Given the description of an element on the screen output the (x, y) to click on. 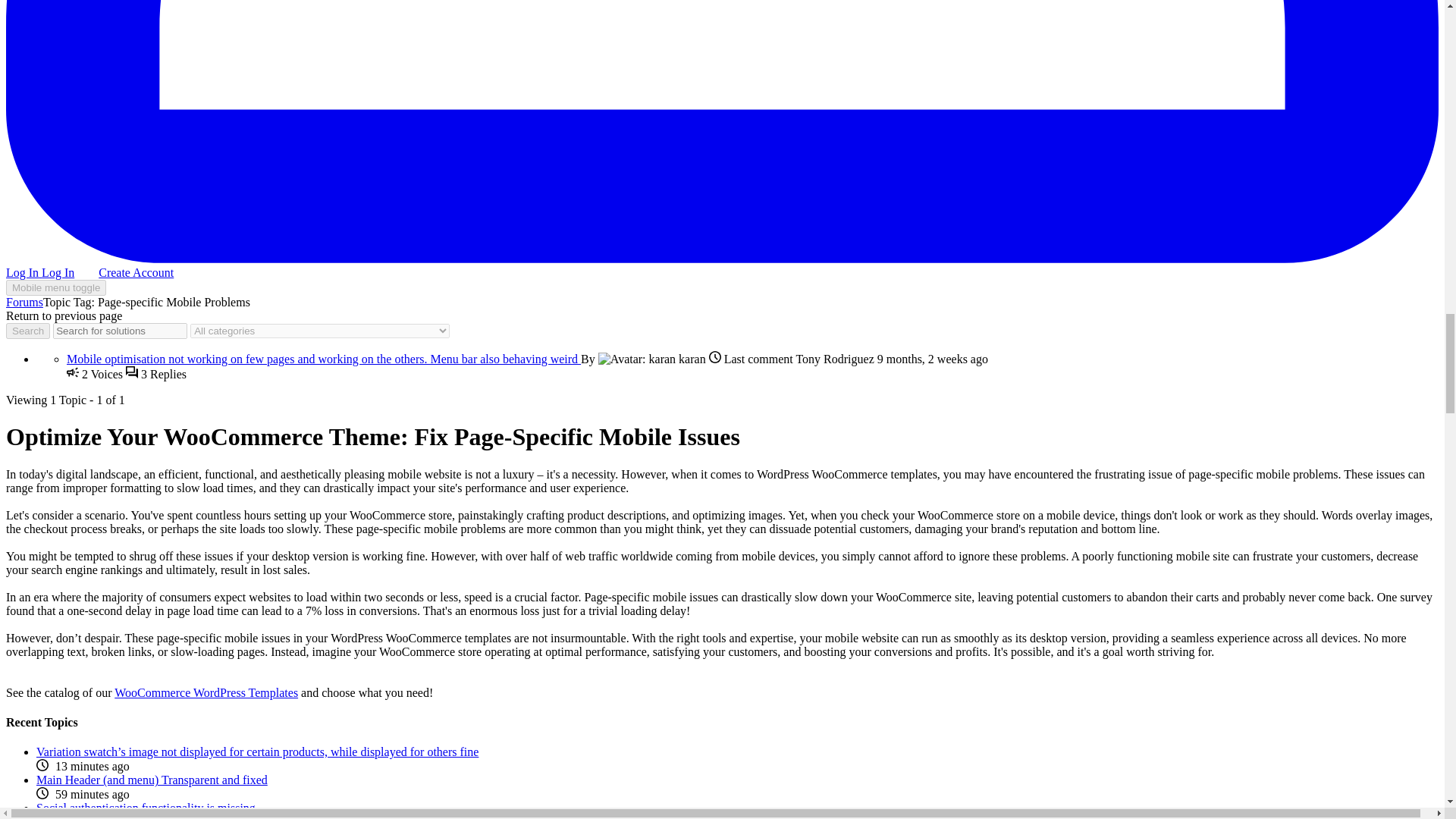
Search (27, 330)
